Given the description of an element on the screen output the (x, y) to click on. 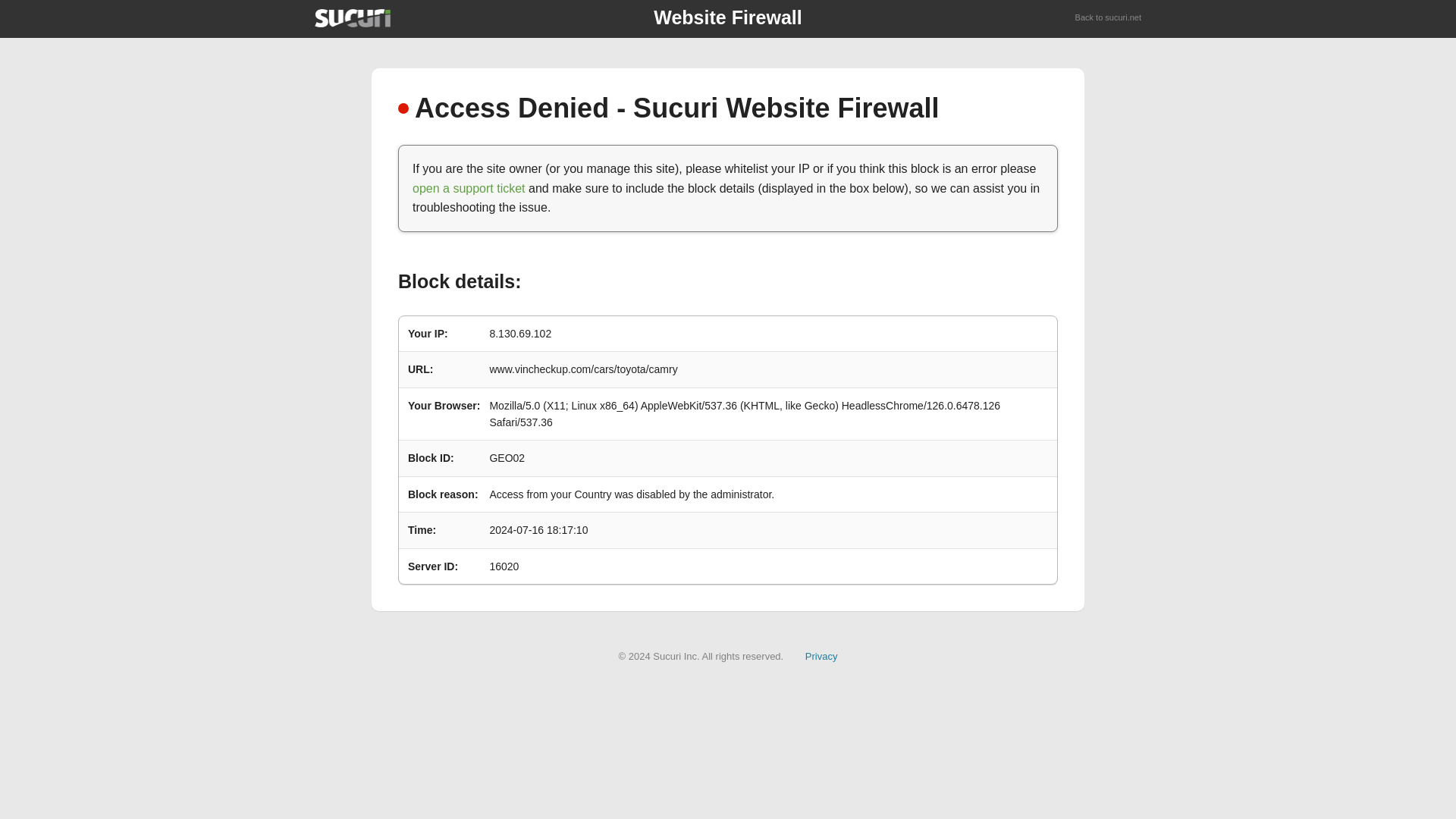
Privacy (821, 655)
Back to sucuri.net (1108, 18)
open a support ticket (468, 187)
